Given the description of an element on the screen output the (x, y) to click on. 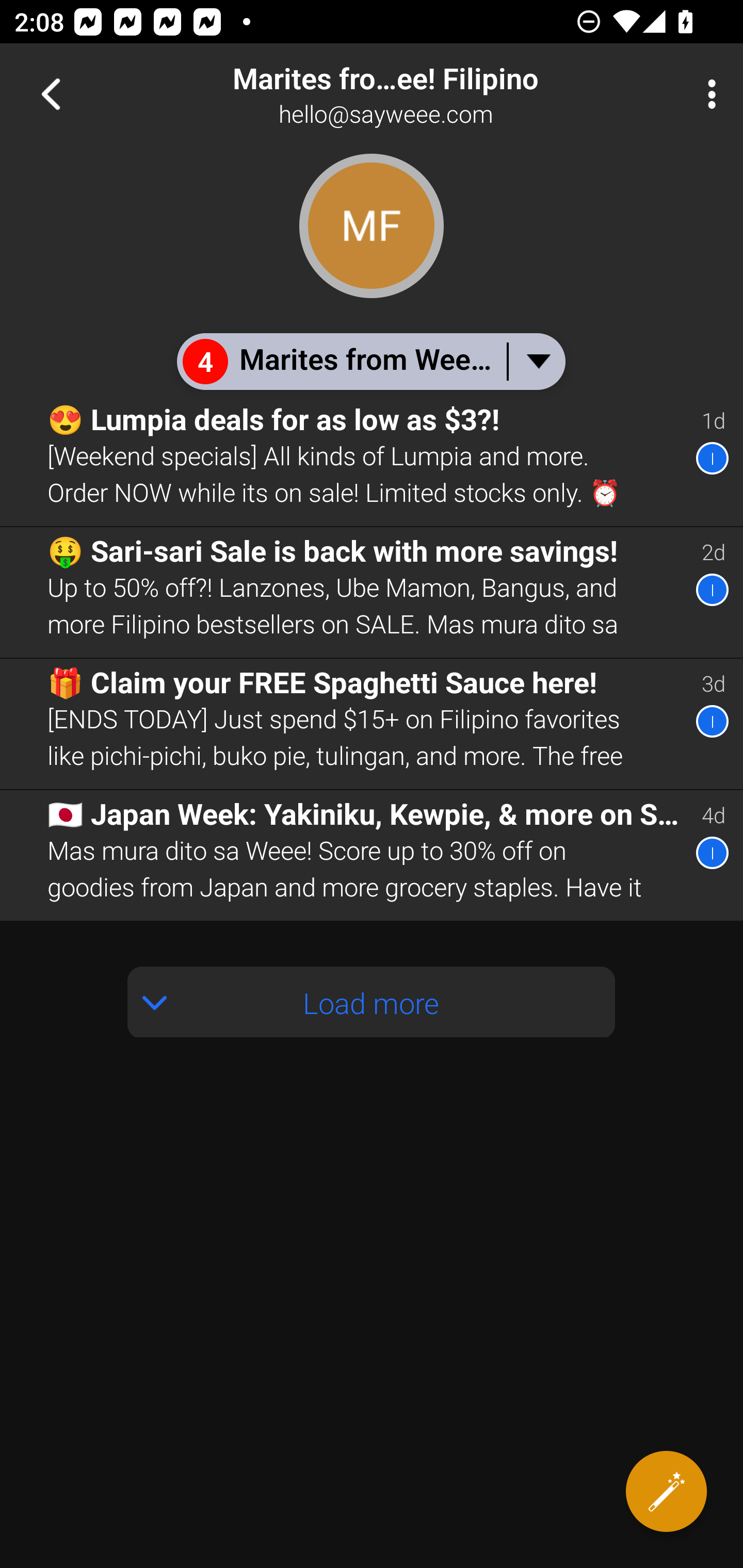
Navigate up (50, 93)
Marites from Weee! Filipino hello@sayweee.com (436, 93)
More Options (706, 93)
4 Marites from Weee! Filipino & You (370, 361)
Load more (371, 1001)
